Given the description of an element on the screen output the (x, y) to click on. 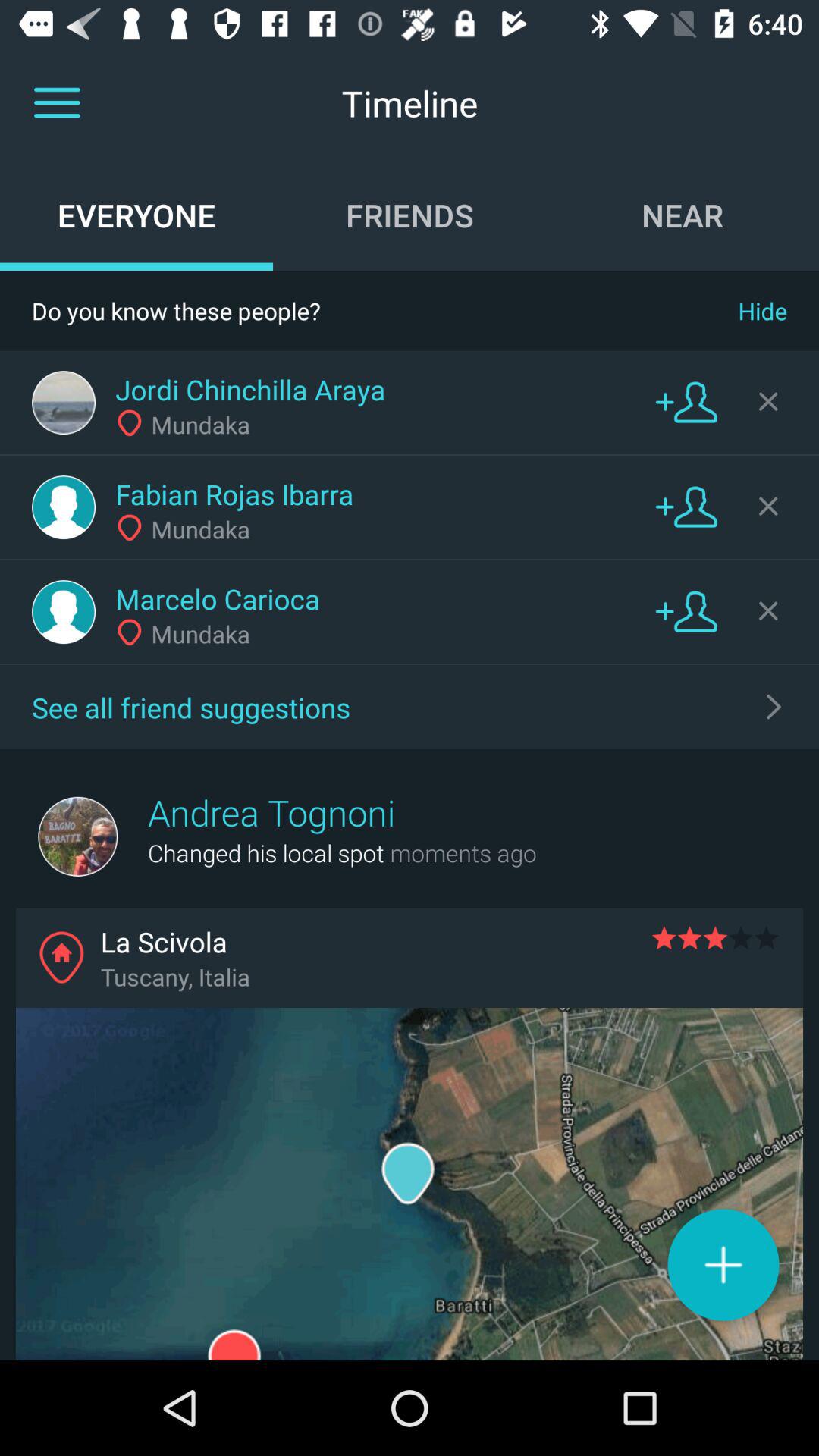
open the list of all friend suggestions (774, 706)
